Given the description of an element on the screen output the (x, y) to click on. 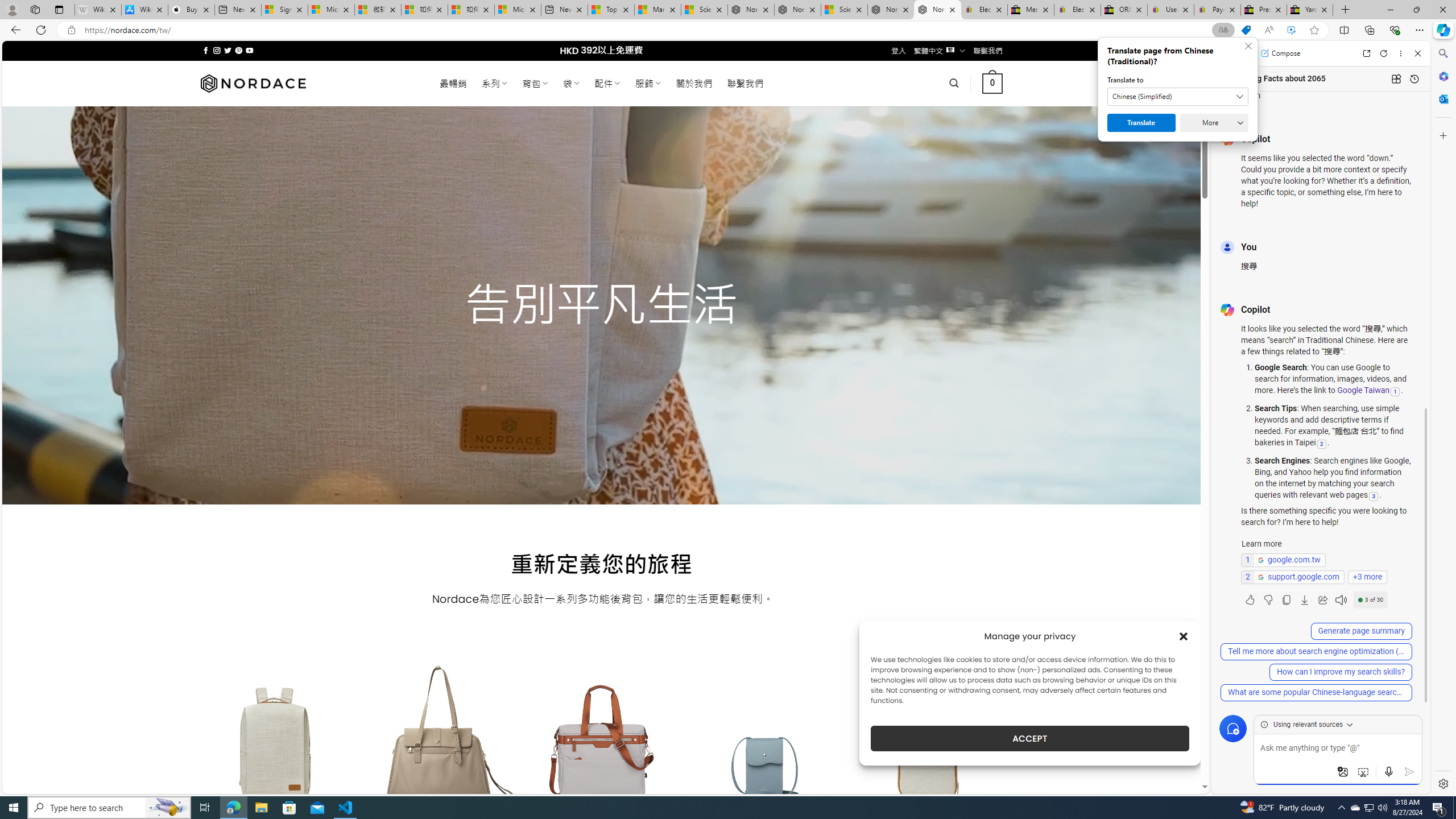
Microsoft Services Agreement (330, 9)
More (1213, 122)
Open link in new tab (1366, 53)
